Given the description of an element on the screen output the (x, y) to click on. 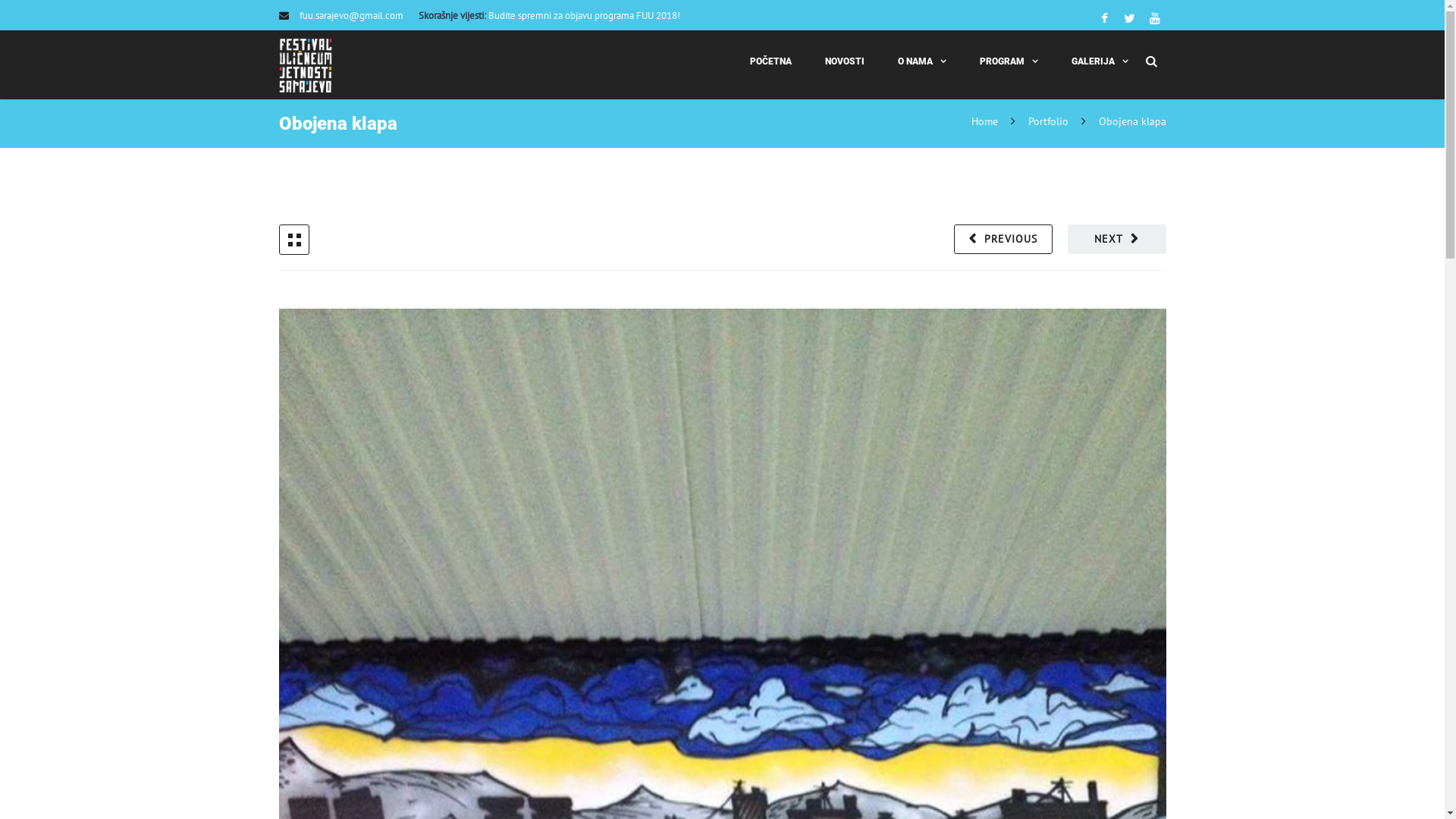
fuu.sarajevo@gmail.com Element type: text (350, 15)
PREVIOUS Element type: text (1002, 239)
GALERIJA Element type: text (1098, 60)
Portfolio Element type: text (1048, 121)
NEXT Element type: text (1116, 239)
FUU Element type: hover (305, 64)
O NAMA Element type: text (921, 60)
PROGRAM Element type: text (1008, 60)
NOVOSTI Element type: text (844, 60)
Home Element type: text (985, 121)
